Given the description of an element on the screen output the (x, y) to click on. 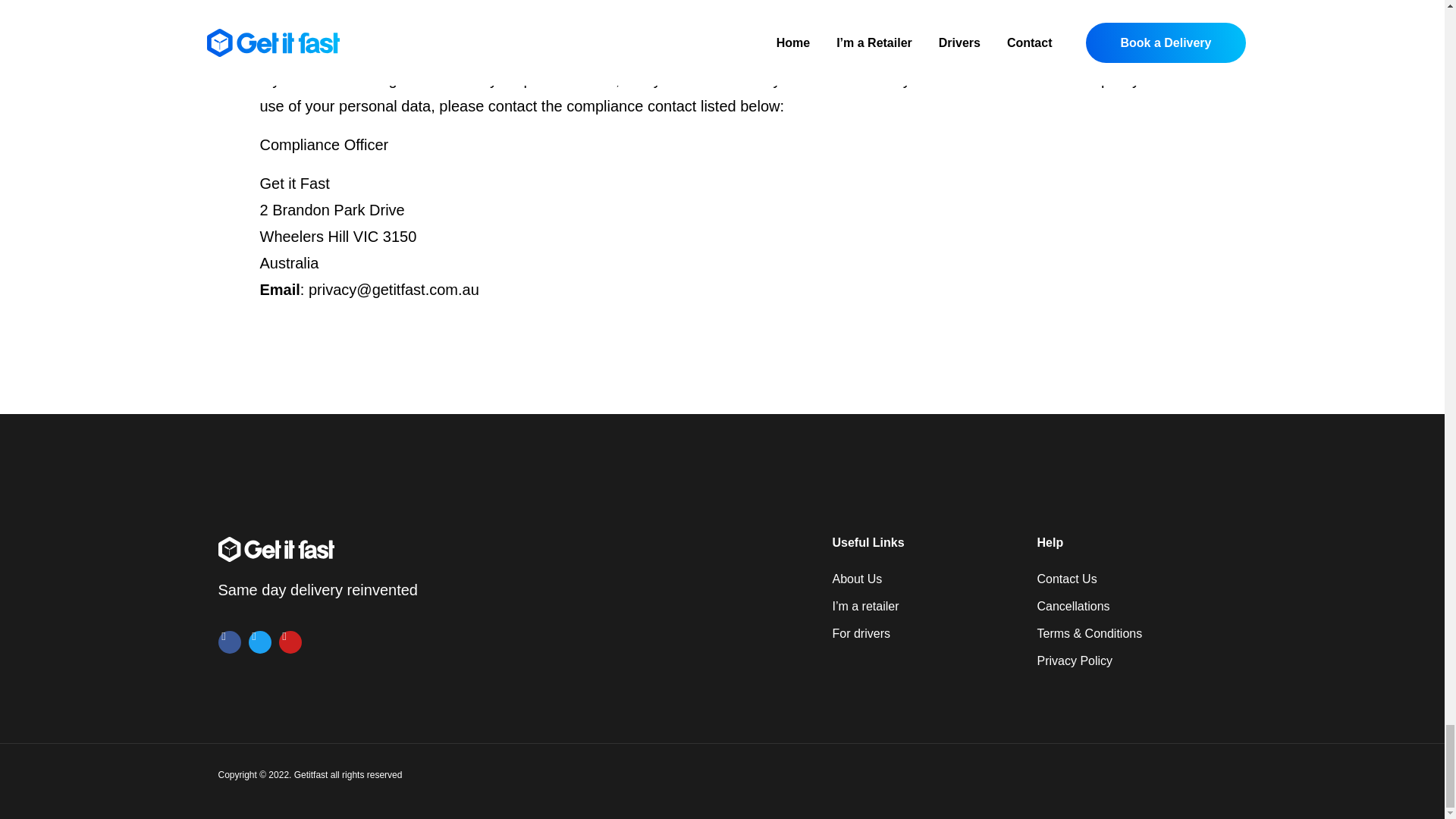
Privacy Policy (1131, 660)
Cancellations (1131, 605)
Contact Us (1131, 578)
About Us (927, 578)
For drivers (927, 633)
